Given the description of an element on the screen output the (x, y) to click on. 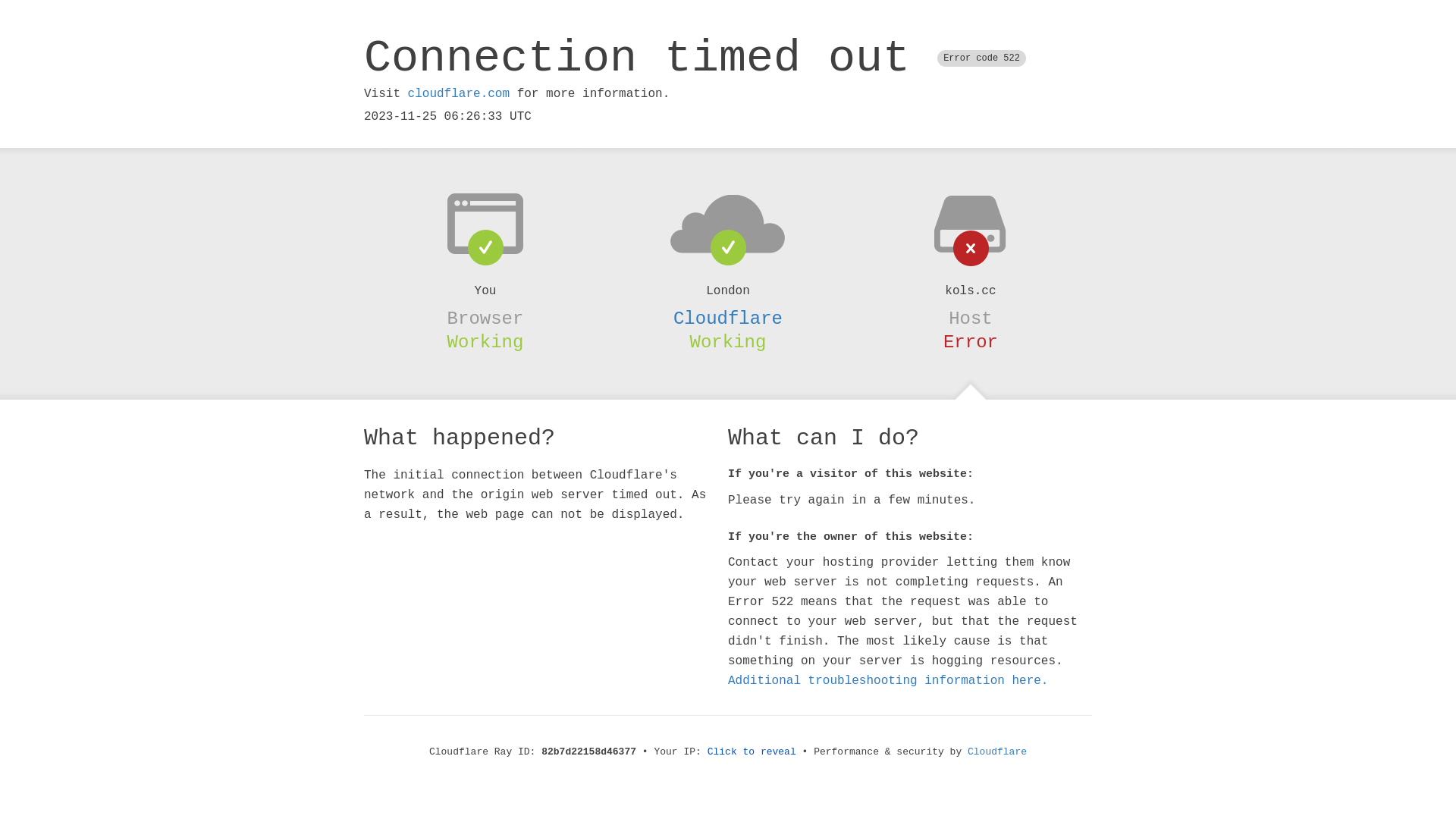
Cloudflare Element type: text (727, 318)
Additional troubleshooting information here. Element type: text (888, 680)
Click to reveal Element type: text (751, 751)
cloudflare.com Element type: text (458, 93)
Cloudflare Element type: text (996, 751)
